Given the description of an element on the screen output the (x, y) to click on. 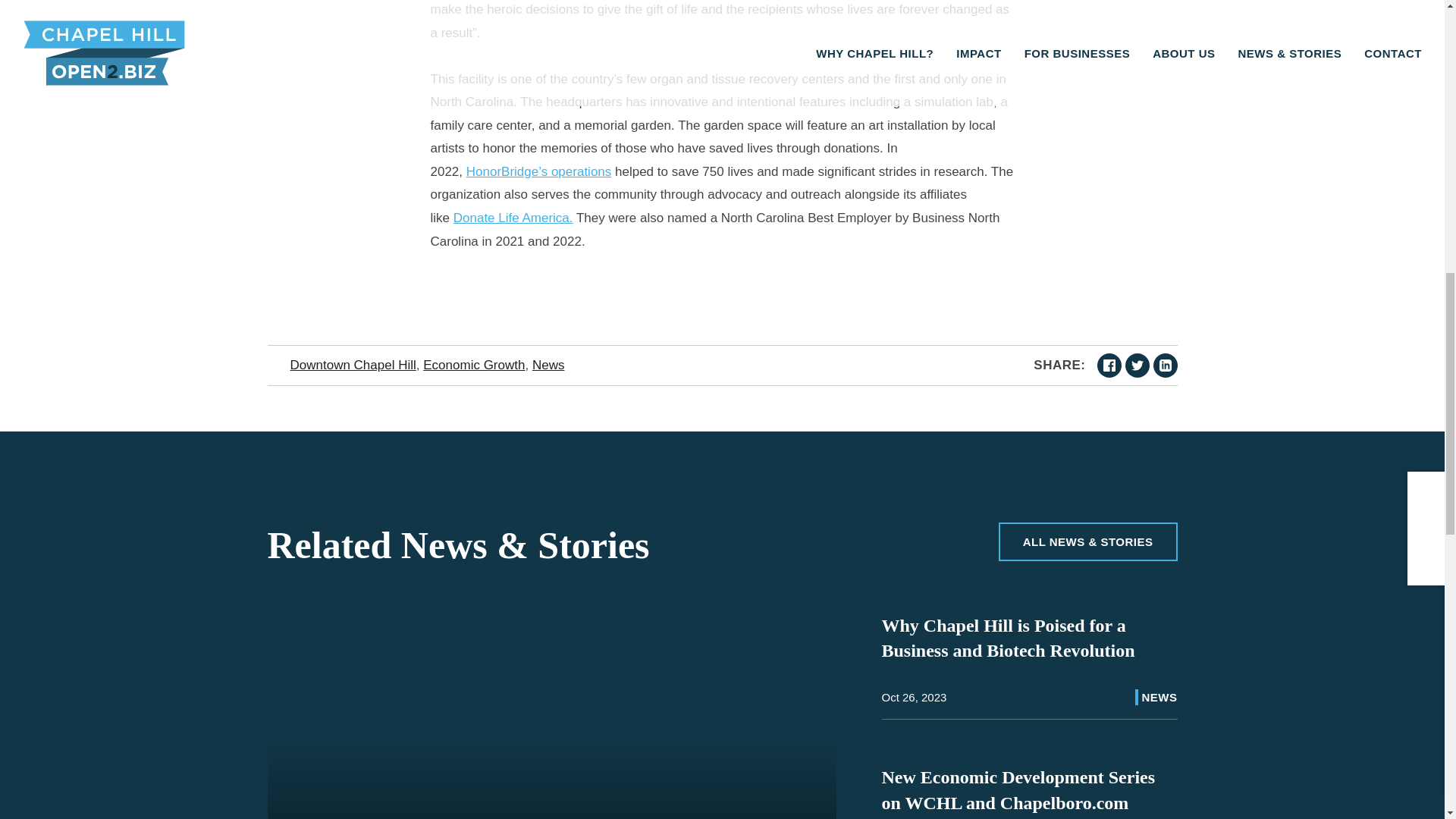
Economic Growth (473, 364)
Donate Life America. (512, 217)
News (548, 364)
New Economic Development Series on WCHL and Chapelboro.com (1017, 790)
Downtown Chapel Hill (351, 364)
